Given the description of an element on the screen output the (x, y) to click on. 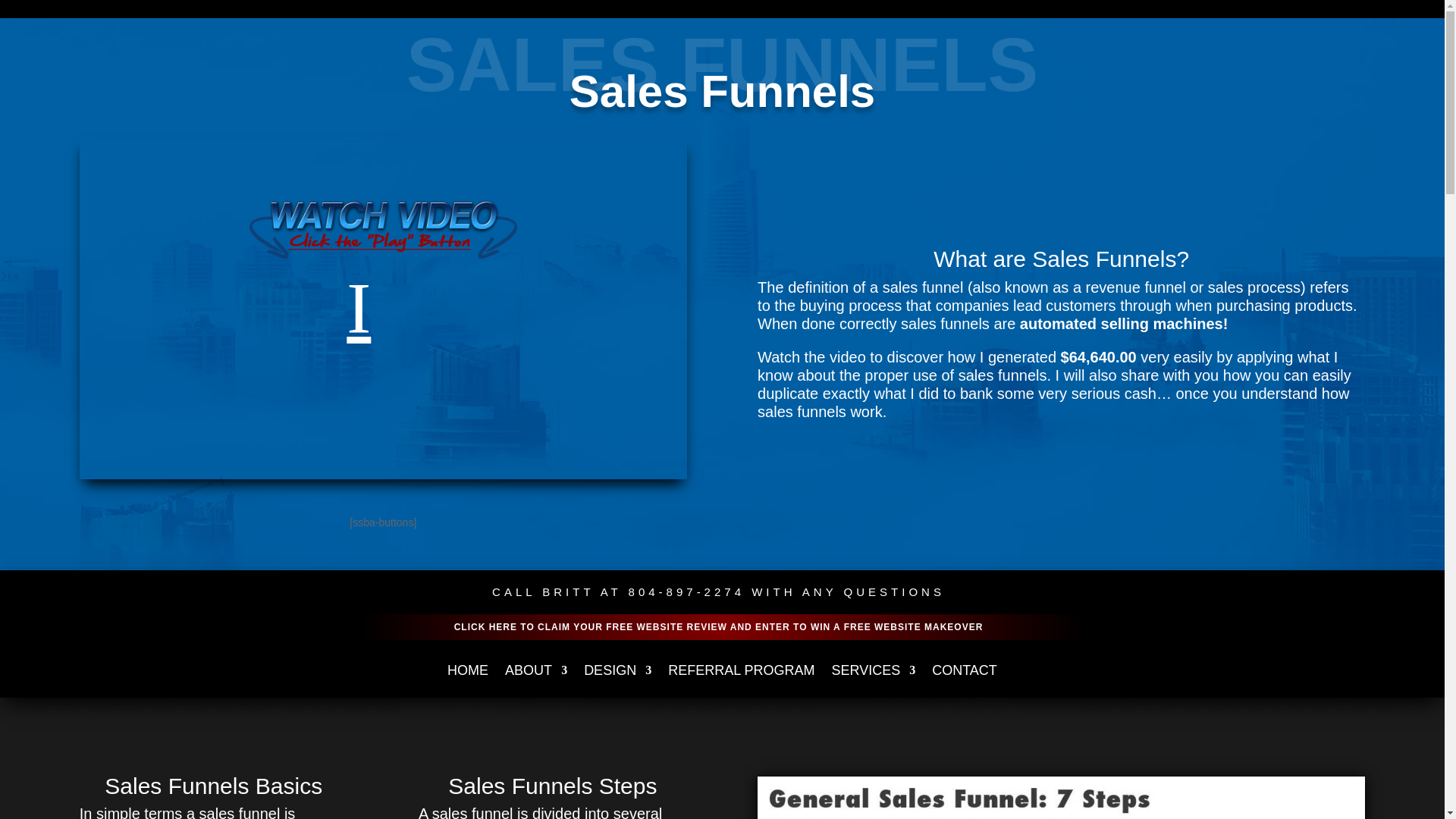
DESIGN (616, 681)
CONTACT (964, 681)
HOME (466, 681)
ABOUT (536, 681)
SERVICES (873, 681)
REFERRAL PROGRAM (740, 681)
